Given the description of an element on the screen output the (x, y) to click on. 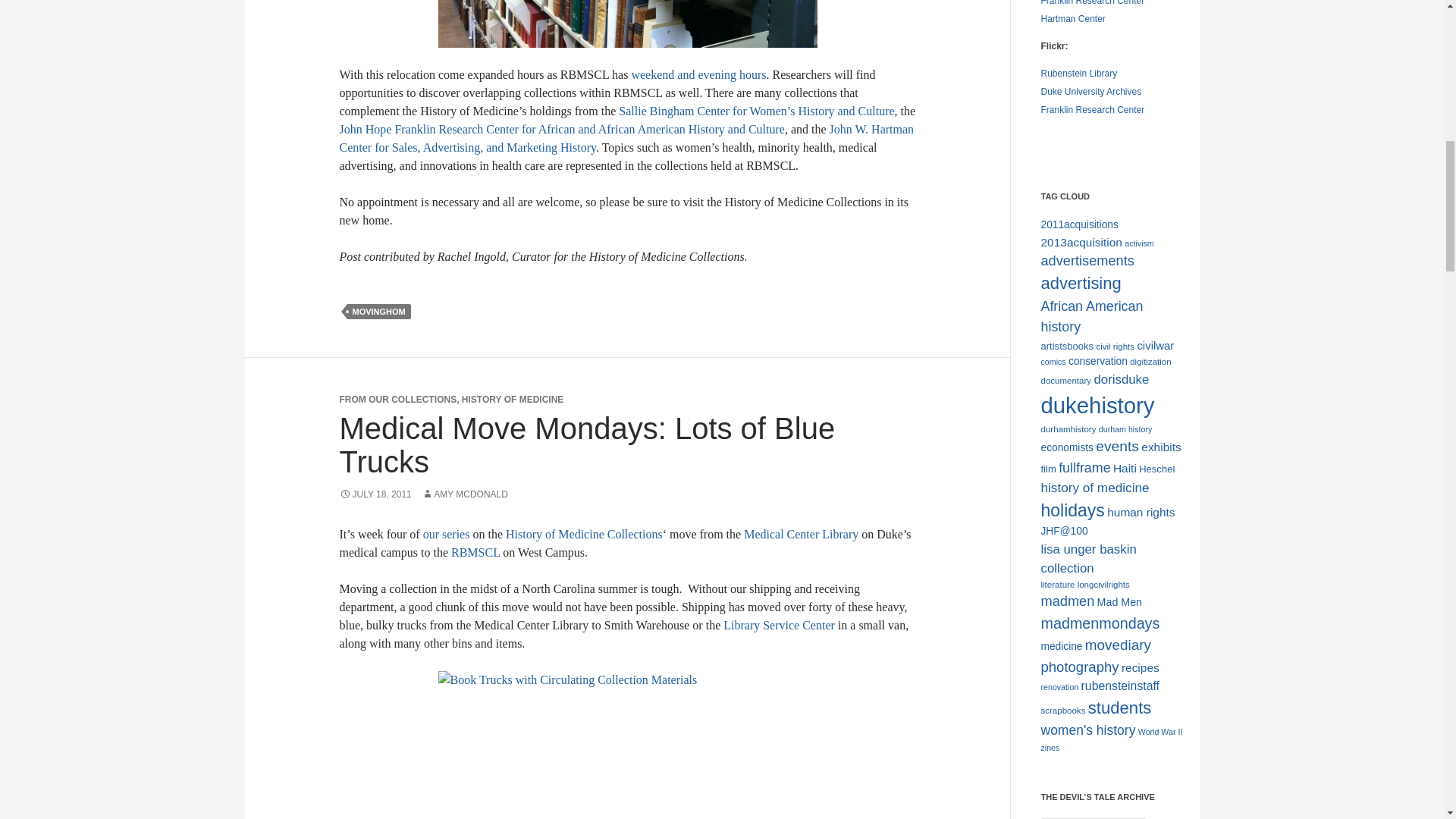
weekend and evening hours (697, 74)
Medical Move Mondays: Lots of Blue Trucks (587, 444)
HISTORY OF MEDICINE (512, 398)
FROM OUR COLLECTIONS (398, 398)
History of Medicine Collections (583, 533)
RBMSCL (475, 552)
MOVINGHOM (378, 311)
AMY MCDONALD (465, 493)
our series (446, 533)
JULY 18, 2011 (375, 493)
Library Service Center (778, 625)
Medical Center Library (801, 533)
